Given the description of an element on the screen output the (x, y) to click on. 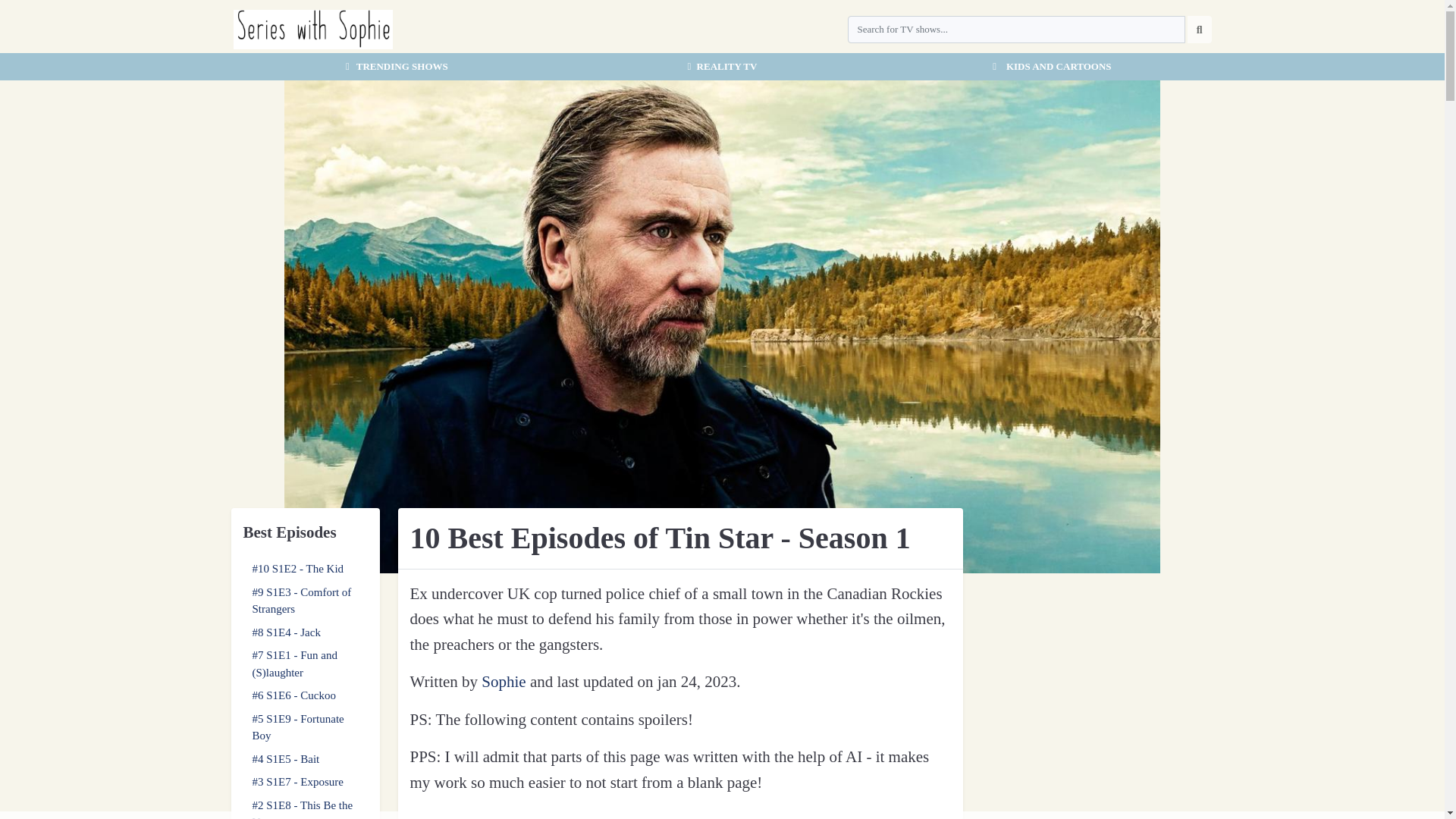
KIDS AND CARTOONS (1048, 66)
REALITY TV (721, 66)
Sophie (503, 681)
TRENDING SHOWS (393, 66)
